Given the description of an element on the screen output the (x, y) to click on. 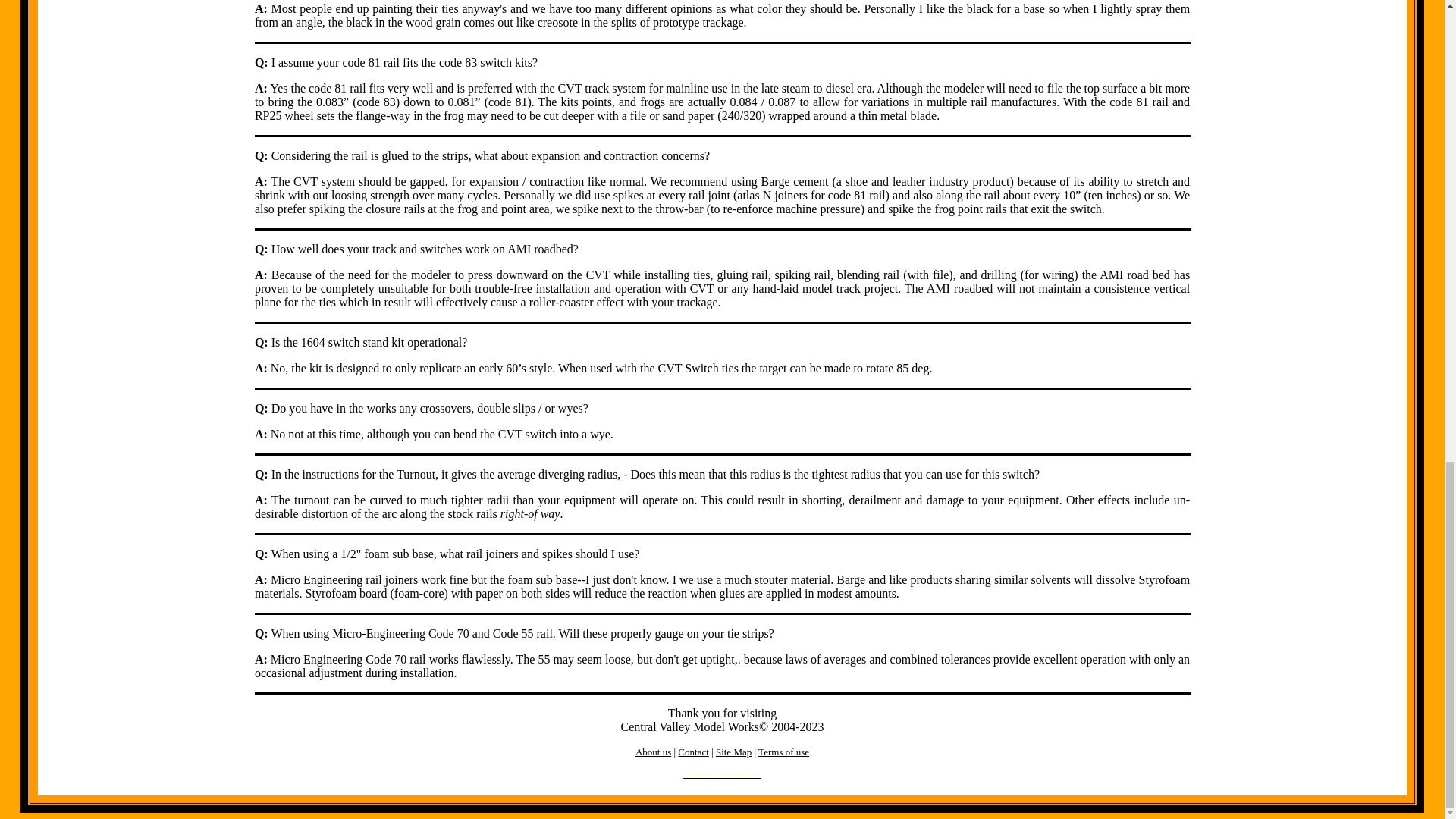
Site Map (733, 751)
Contact the webmaster (721, 772)
About us (652, 751)
Contact (692, 751)
Terms of use (783, 751)
